Given the description of an element on the screen output the (x, y) to click on. 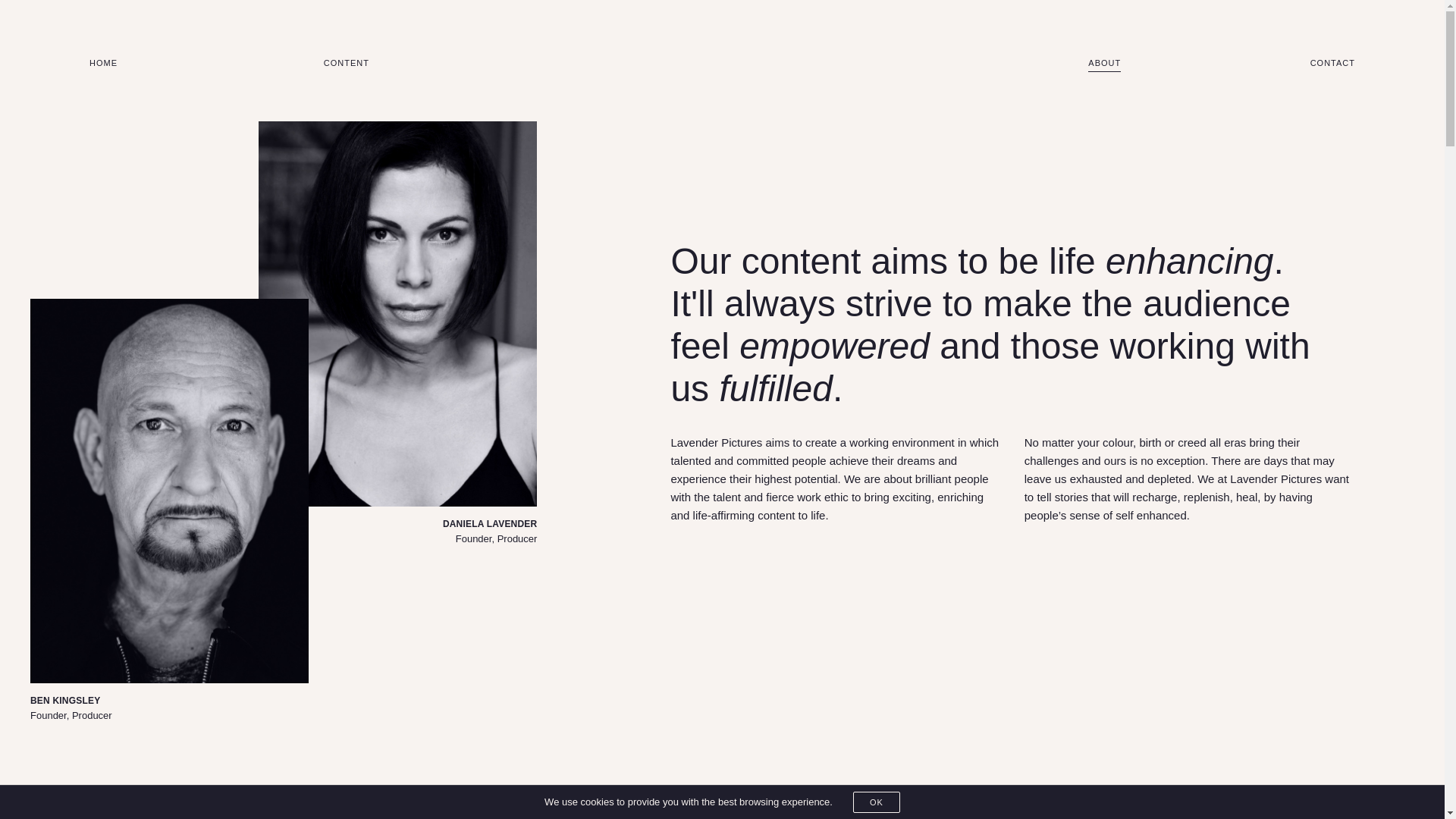
CONTENT (346, 64)
ABOUT (1104, 64)
CONTACT (1332, 64)
OK (876, 802)
HOME (102, 64)
